Given the description of an element on the screen output the (x, y) to click on. 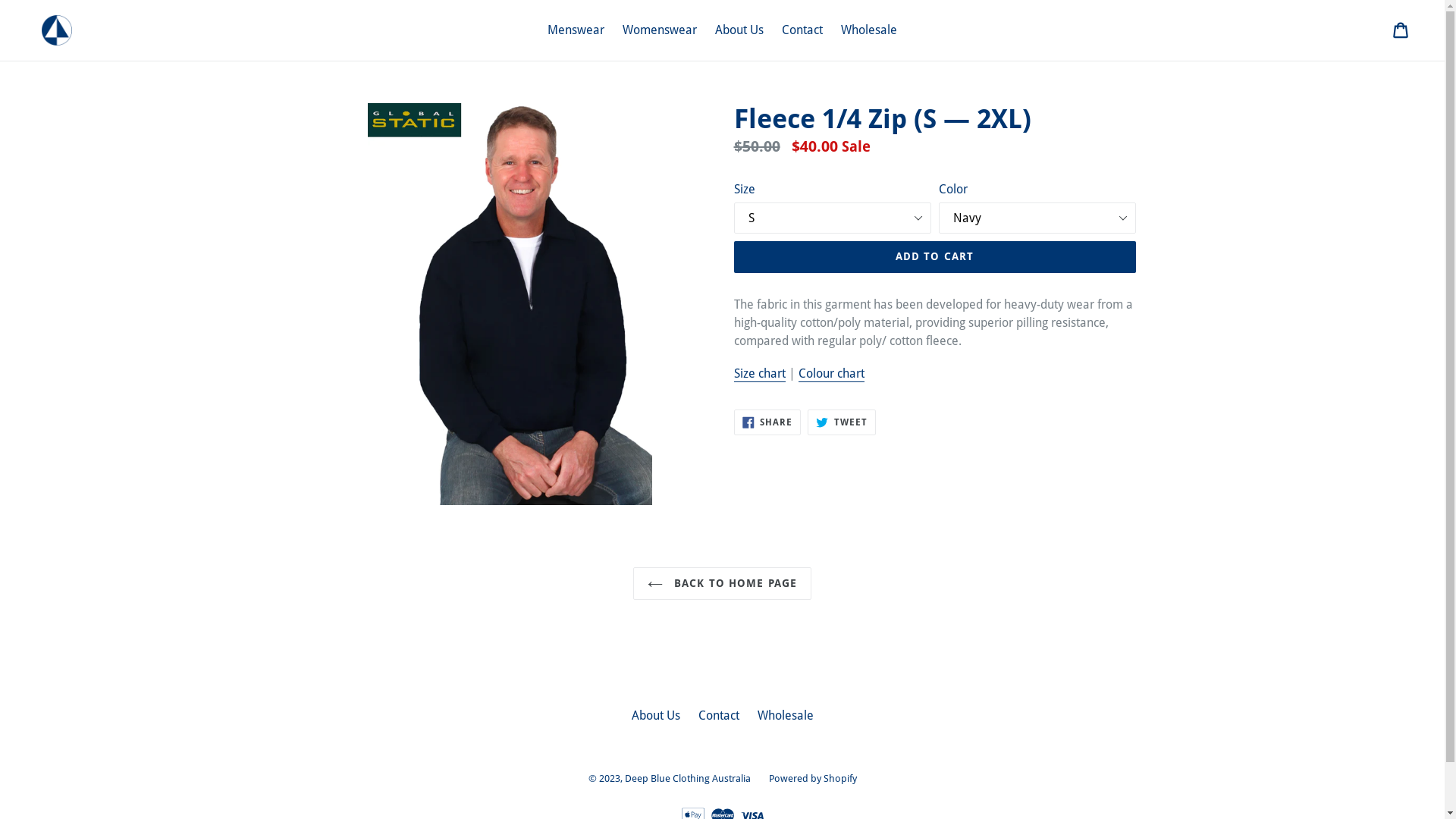
Deep Blue Clothing Australia Element type: text (687, 778)
About Us Element type: text (654, 715)
Contact Element type: text (802, 29)
ADD TO CART Element type: text (934, 257)
Wholesale Element type: text (868, 29)
BACK TO HOME PAGE Element type: text (722, 583)
About Us Element type: text (739, 29)
Colour chart Element type: text (830, 374)
Powered by Shopify Element type: text (812, 778)
TWEET
TWEET ON TWITTER Element type: text (841, 422)
Womenswear Element type: text (659, 29)
Contact Element type: text (717, 715)
Size chart Element type: text (759, 374)
Menswear Element type: text (575, 29)
Wholesale Element type: text (784, 715)
Cart
Cart Element type: text (1401, 29)
SHARE
SHARE ON FACEBOOK Element type: text (767, 422)
